Given the description of an element on the screen output the (x, y) to click on. 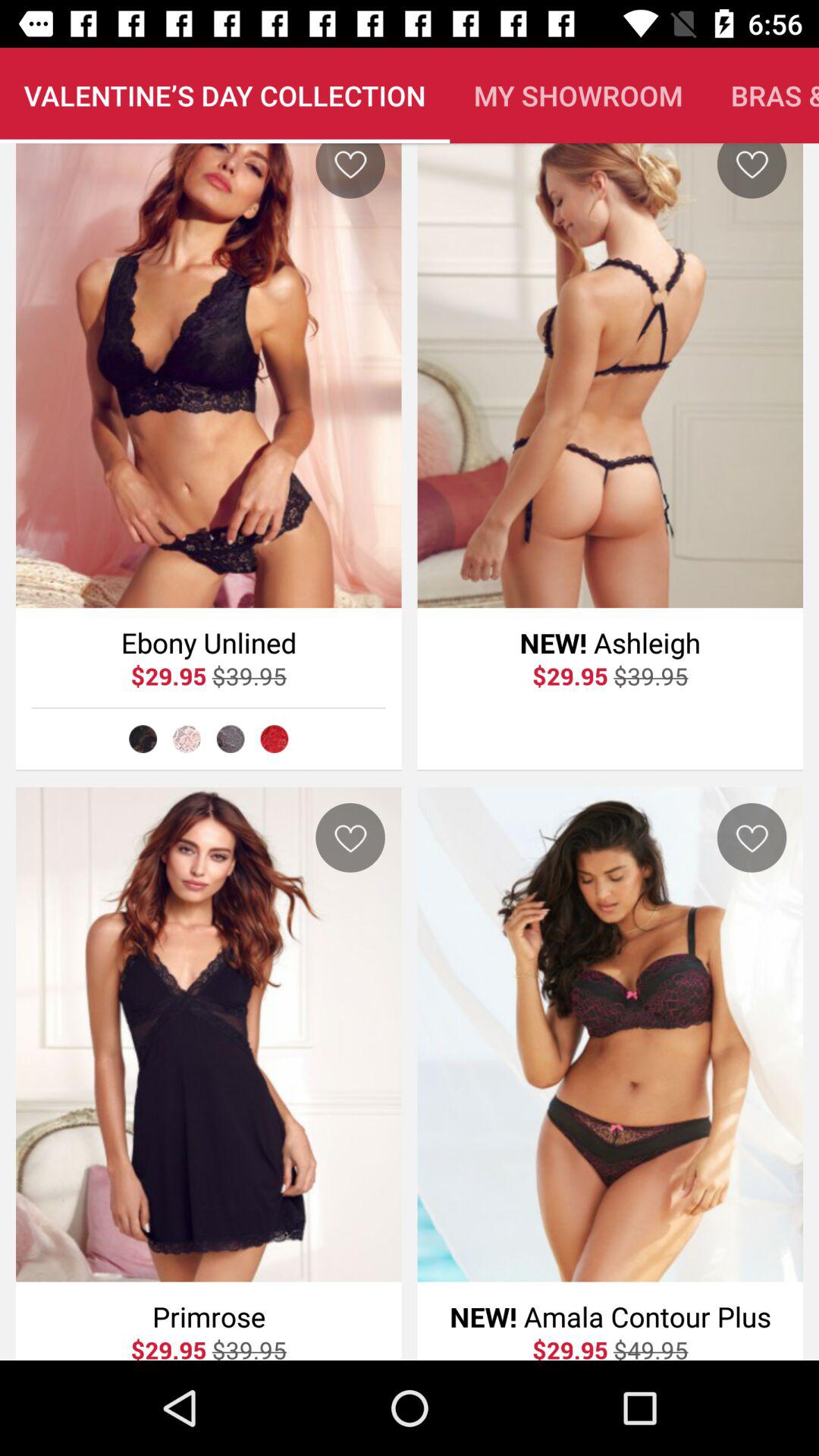
product color selection (142, 738)
